Given the description of an element on the screen output the (x, y) to click on. 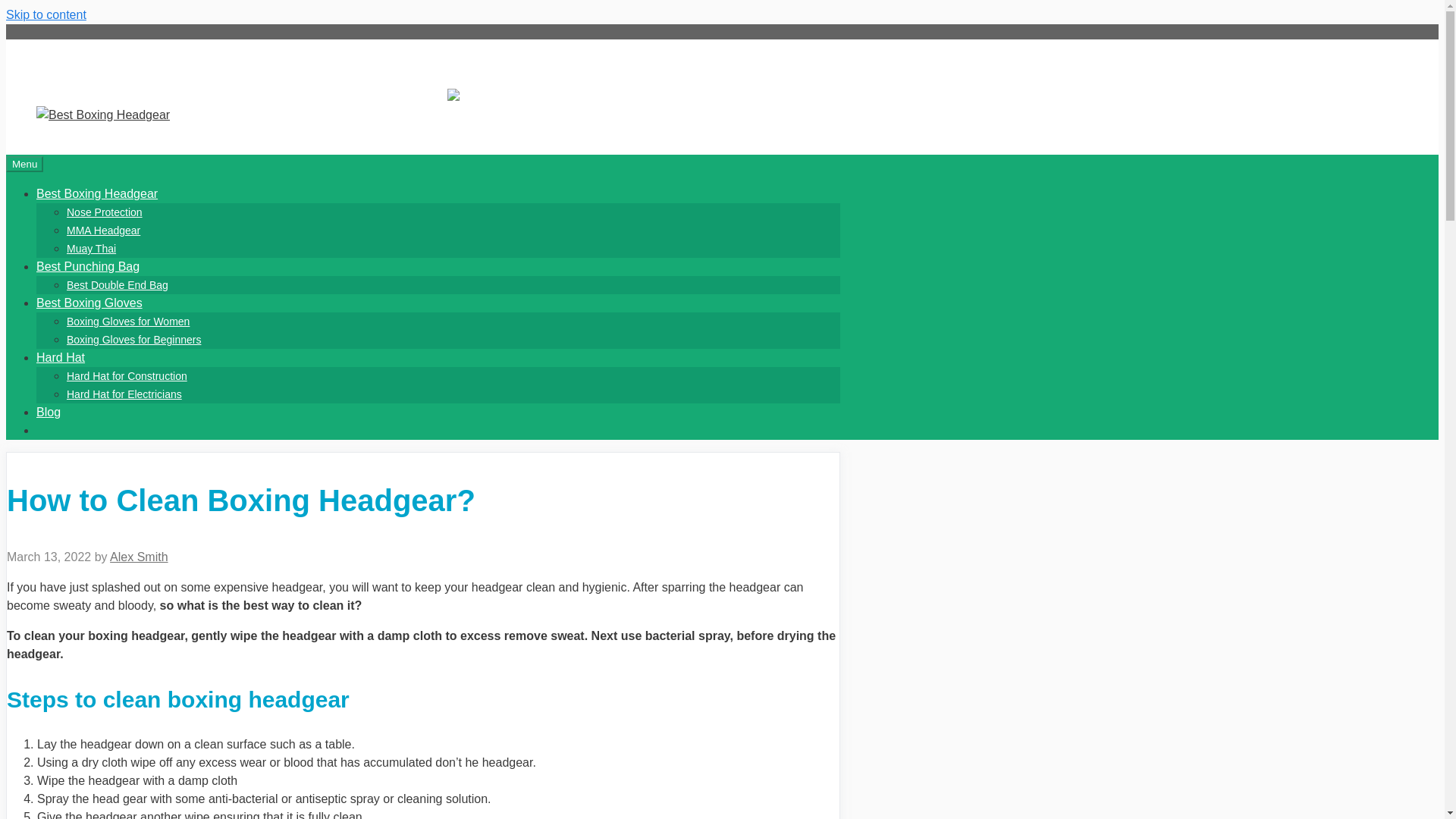
Hard Hat for Electricians (124, 394)
Best Double End Bag (117, 285)
Nose Protection (104, 212)
Boxing Gloves for Beginners (133, 339)
Skip to content (45, 14)
Best Boxing Headgear (96, 193)
MMA Headgear (102, 230)
Best Boxing Gloves (89, 302)
Best Punching Bag (87, 266)
Hard Hat (60, 357)
Boxing Gloves for Women (127, 321)
View all posts by Alex Smith (138, 556)
Skip to content (45, 14)
Blog (48, 411)
Alex Smith (138, 556)
